Given the description of an element on the screen output the (x, y) to click on. 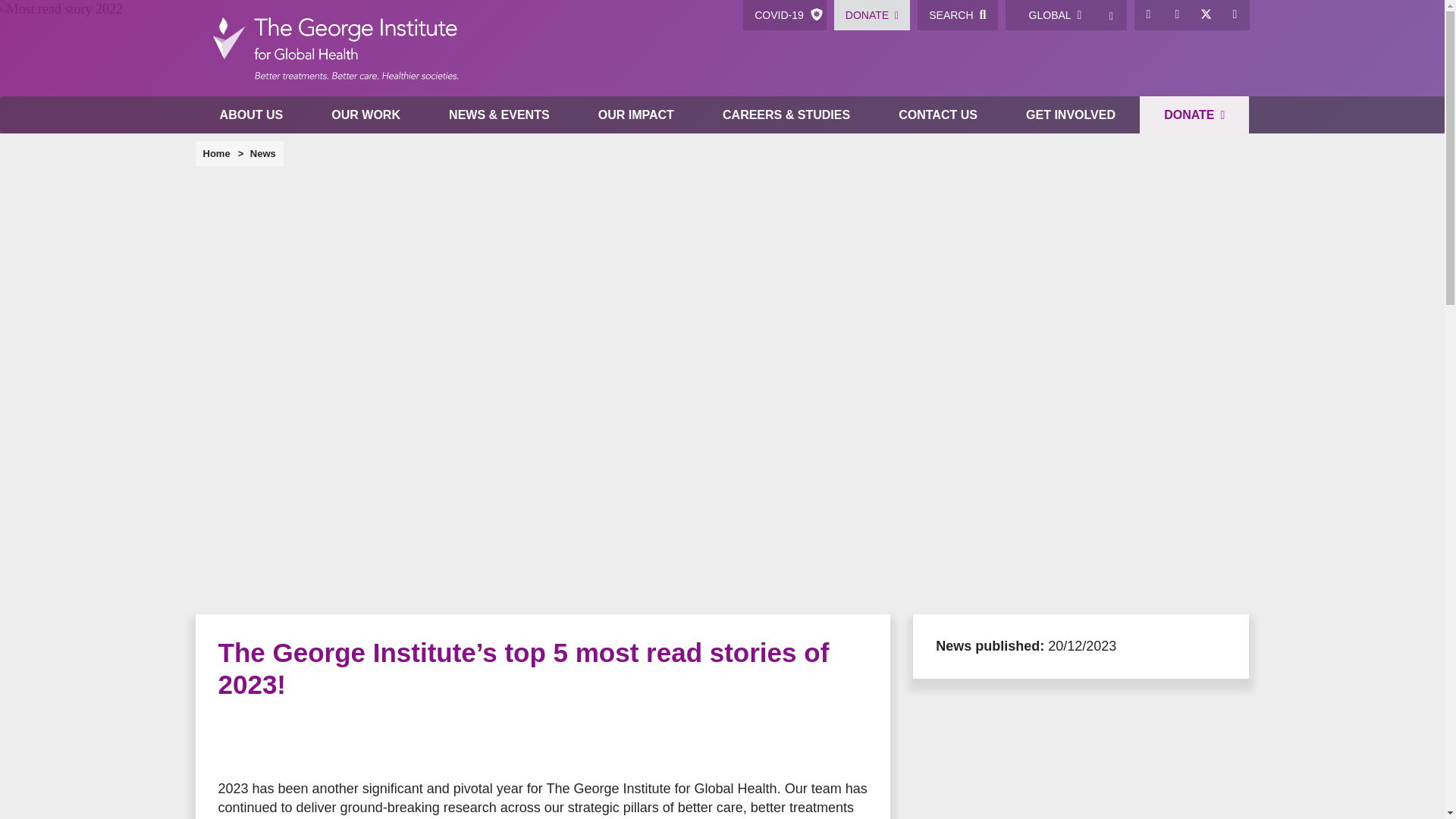
DONATE (872, 15)
ABOUT US (251, 114)
Share to WhatsApp (293, 740)
Twitter (1206, 15)
SEARCH (957, 15)
Facebook (1148, 15)
Skip to main content (721, 1)
Share to X (263, 740)
Share to Linkedin (324, 740)
LinkedIn (1177, 15)
Share to Facebook (233, 740)
YouTube (1235, 15)
COVID-19 (784, 15)
Select country (1111, 15)
Home (334, 48)
